Given the description of an element on the screen output the (x, y) to click on. 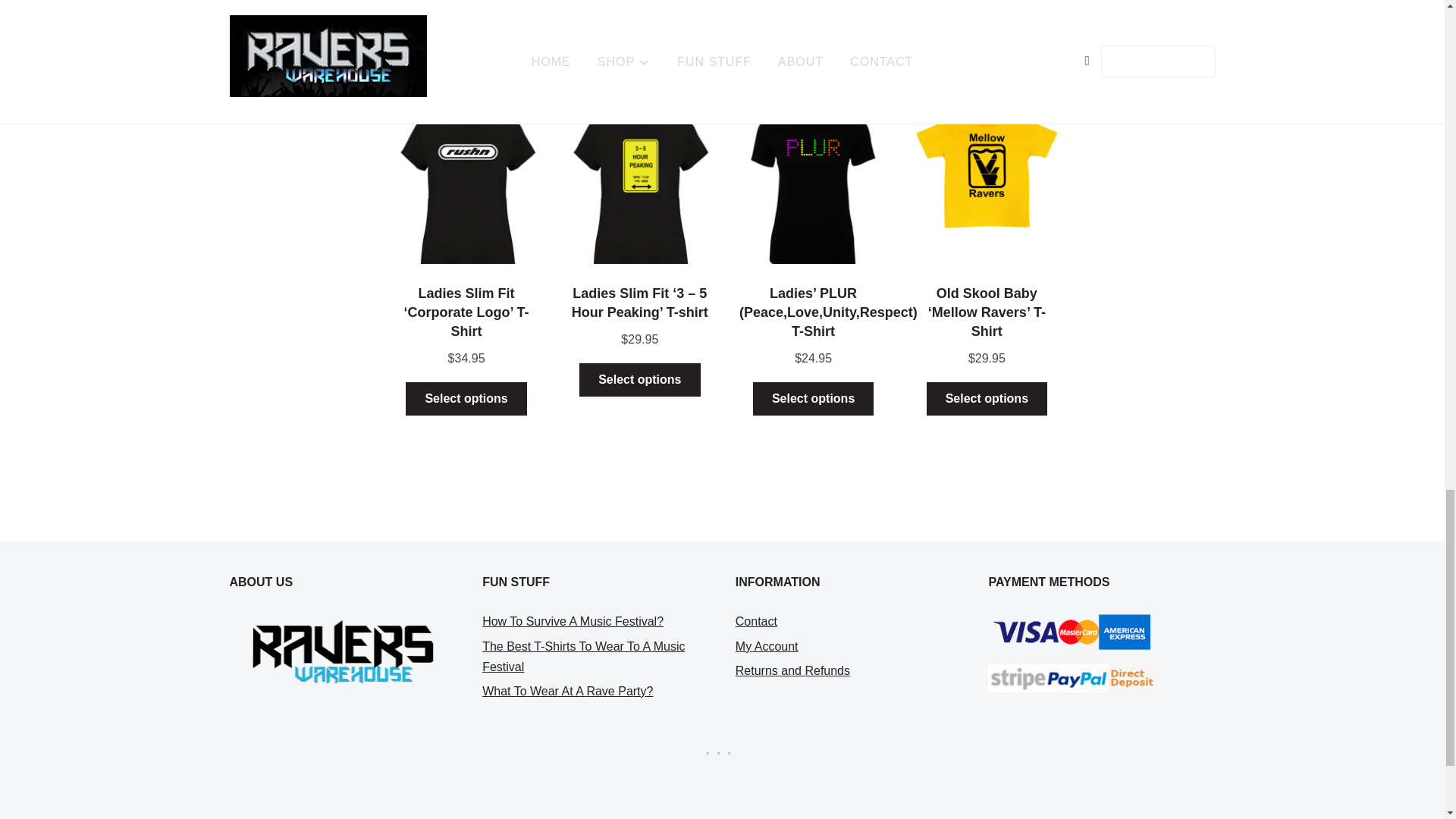
About Us (341, 651)
